Given the description of an element on the screen output the (x, y) to click on. 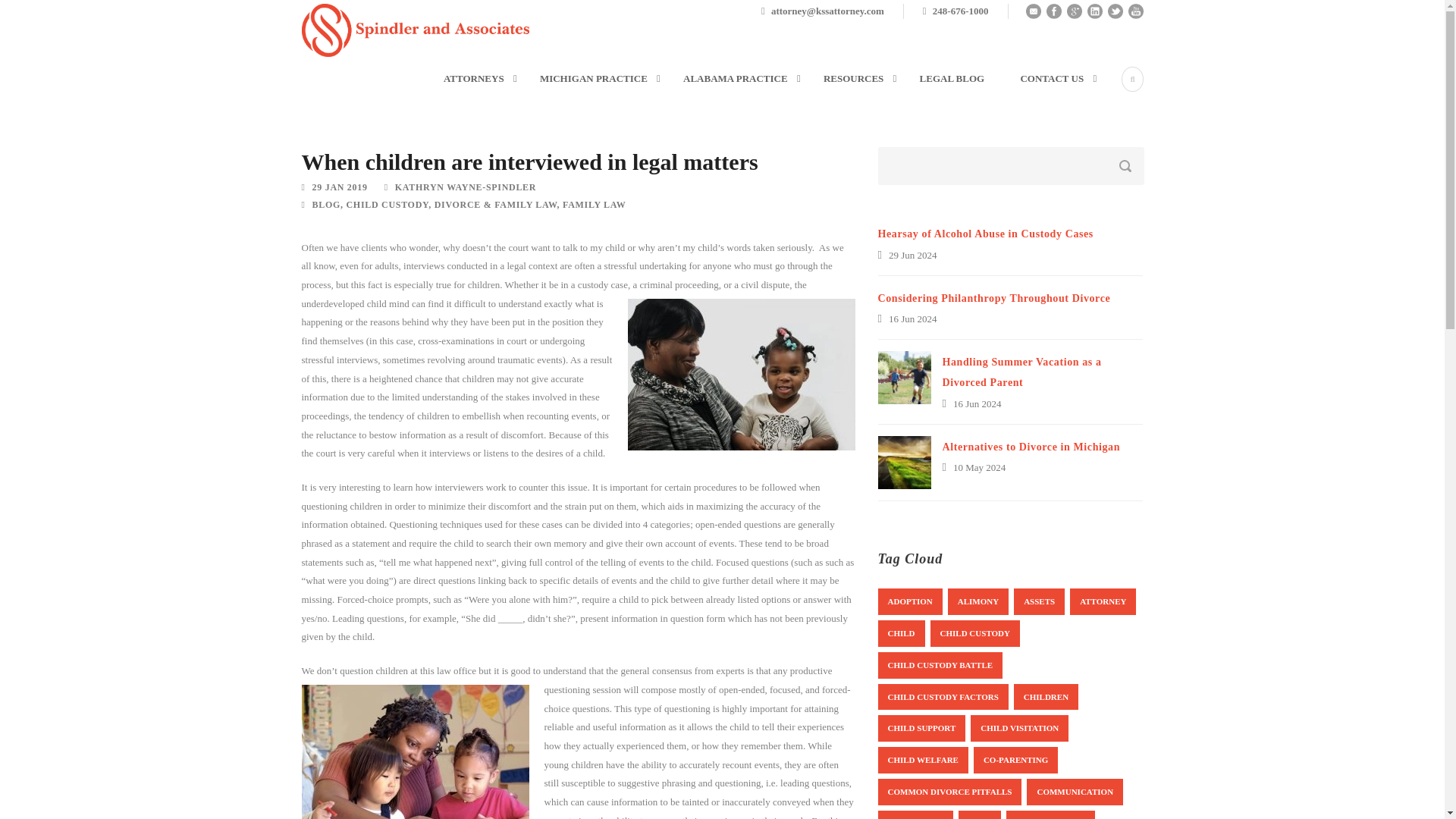
Posts by Kathryn Wayne-Spindler (464, 186)
